Given the description of an element on the screen output the (x, y) to click on. 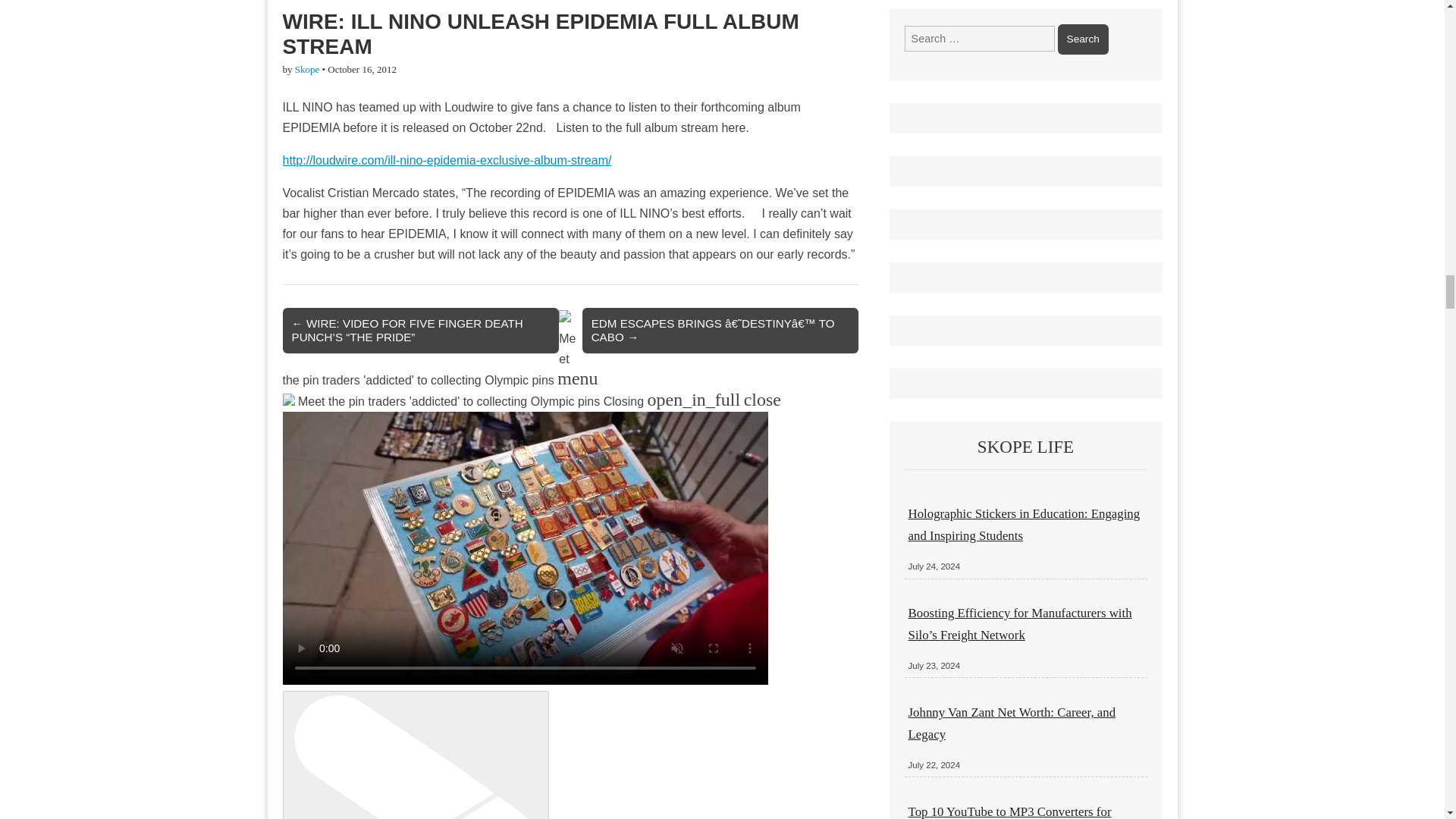
Skope (307, 69)
Search (1083, 39)
Search (1083, 39)
Search (1083, 39)
Posts by Skope (307, 69)
Johnny Van Zant Net Worth: Career, and Legacy (1012, 723)
